Given the description of an element on the screen output the (x, y) to click on. 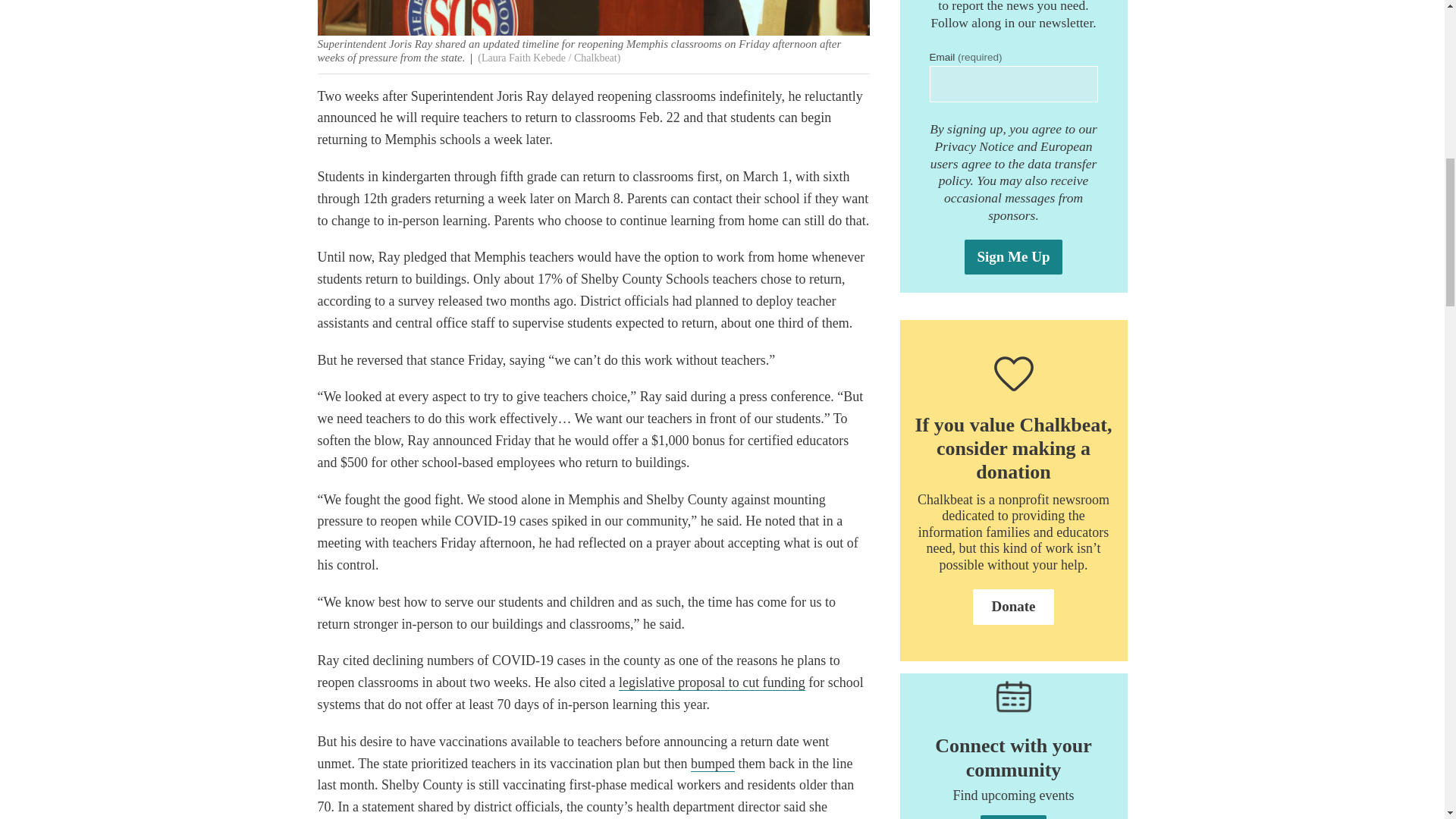
bumped (712, 763)
legislative proposal to cut funding (711, 682)
